Given the description of an element on the screen output the (x, y) to click on. 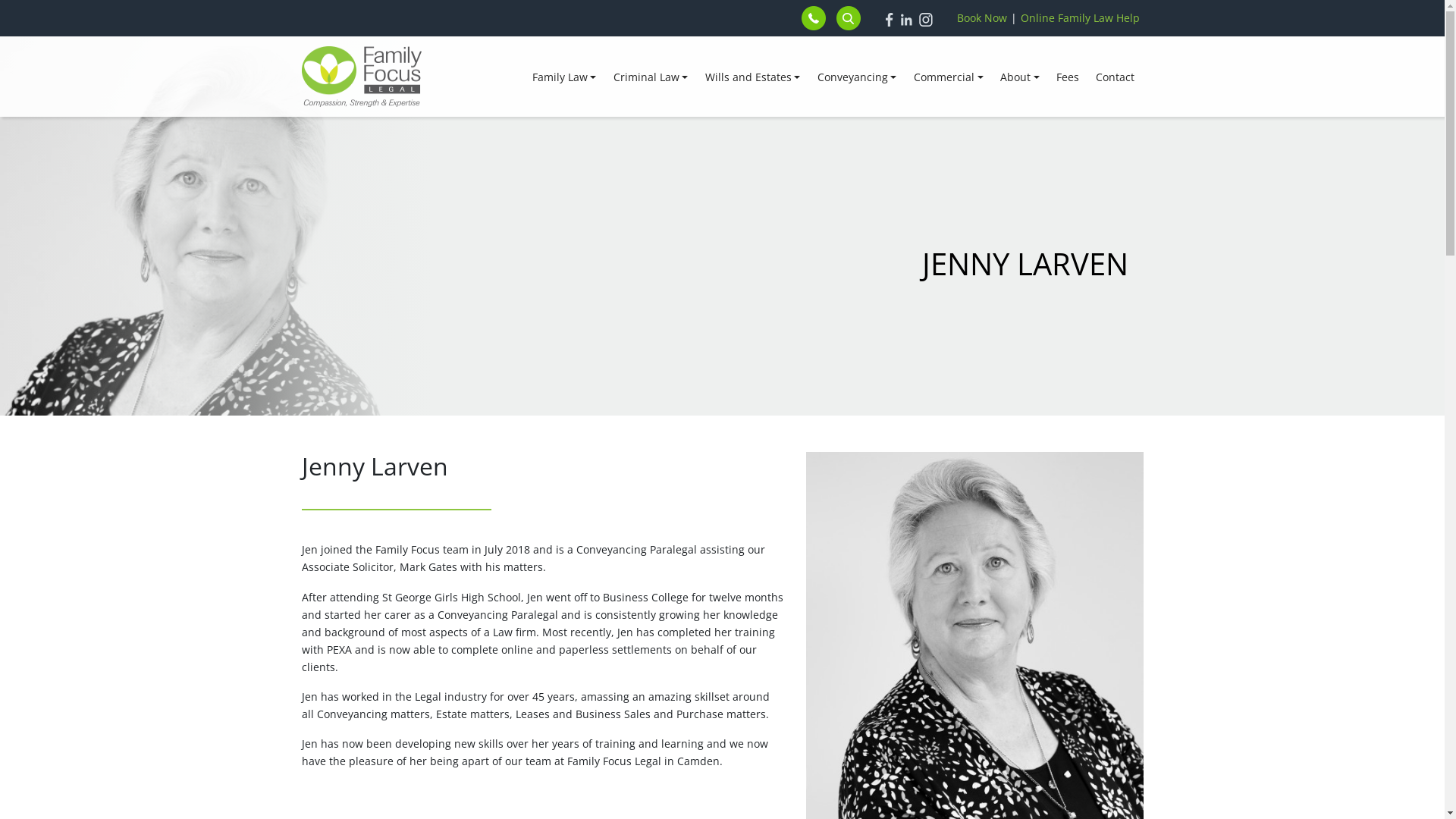
Online Family Law Help Element type: text (1080, 17)
Criminal Law Element type: text (650, 75)
Contact Element type: text (1114, 75)
Fees Element type: text (1067, 75)
Conveyancing Element type: text (857, 75)
Book Now Element type: text (981, 17)
Commercial Element type: text (948, 75)
Family Law Element type: text (563, 75)
Wills and Estates Element type: text (752, 75)
About Element type: text (1019, 75)
